Given the description of an element on the screen output the (x, y) to click on. 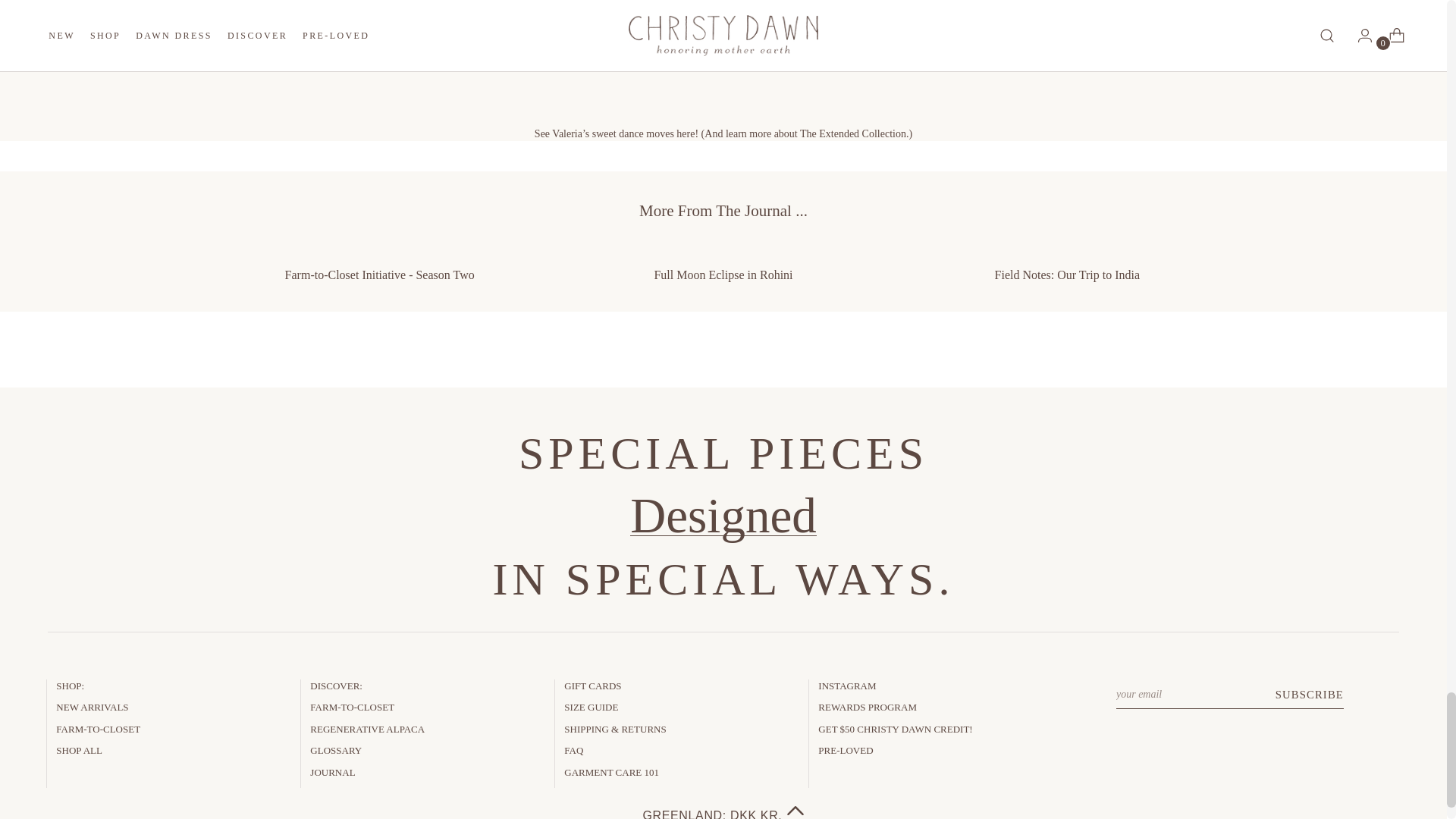
Field Notes: Our Trip to India (1067, 263)
Full Moon Eclipse in Rohini (722, 263)
Farm-to-Closet Initiative - Season Two (378, 263)
